Given the description of an element on the screen output the (x, y) to click on. 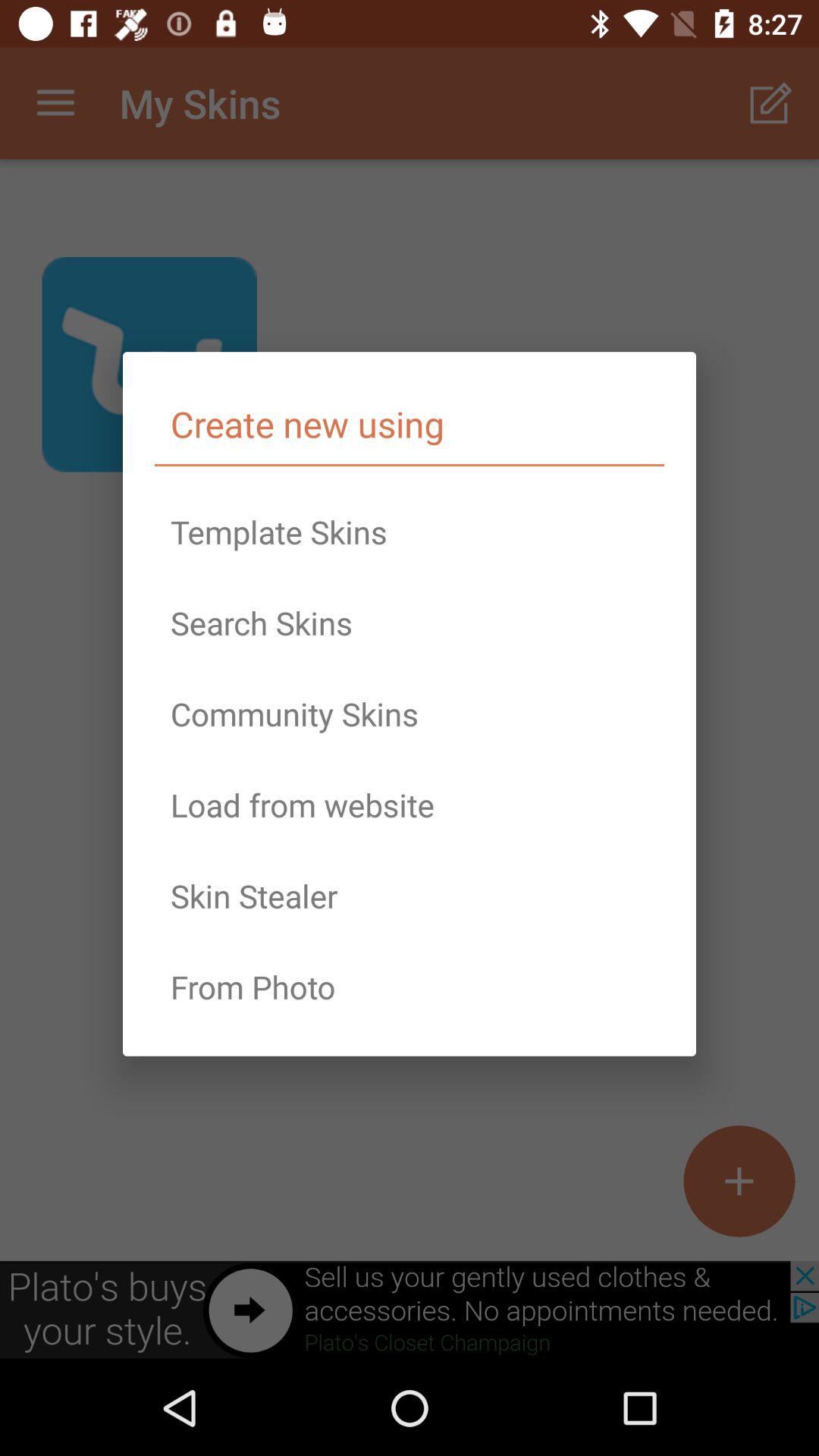
swipe until load from website item (409, 804)
